Given the description of an element on the screen output the (x, y) to click on. 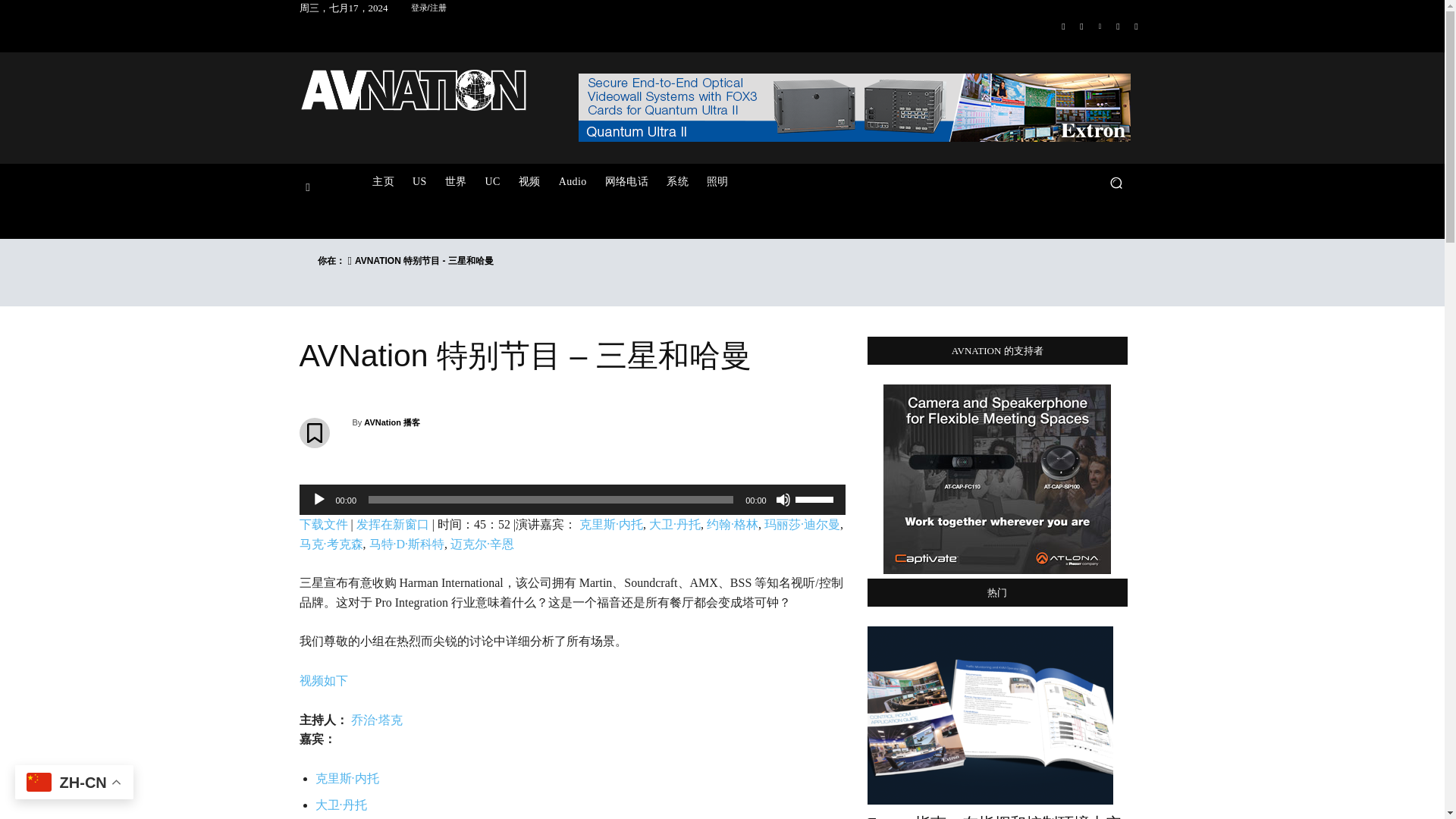
Instagram (1080, 25)
Youtube (1135, 25)
LinkedIn (1099, 25)
Twitter (1117, 25)
Facebook (1062, 25)
